Given the description of an element on the screen output the (x, y) to click on. 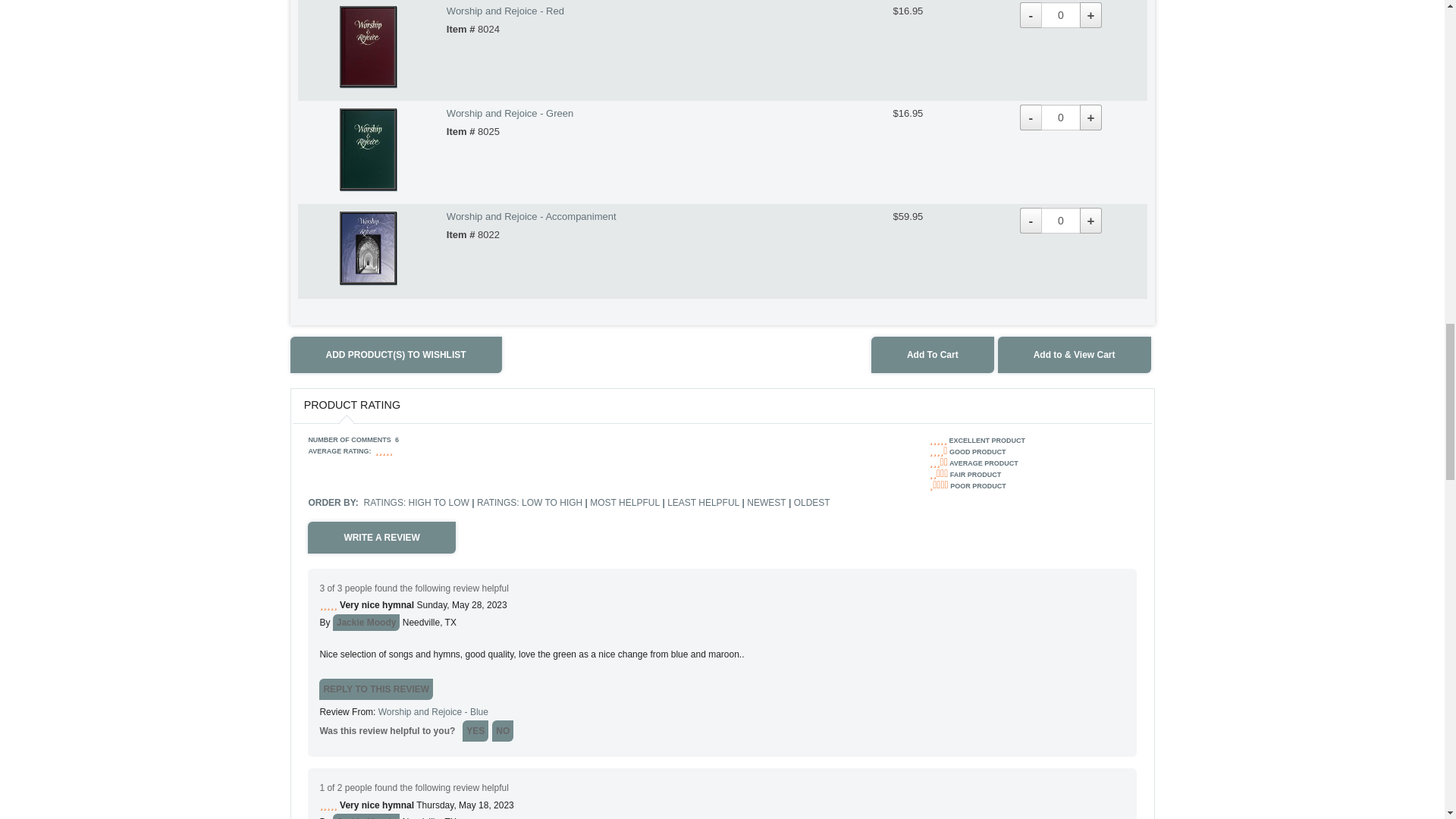
Jackie Moody (366, 816)
Write A Review (380, 537)
YES (475, 731)
0 (1060, 220)
Reply to this review (375, 689)
NO (502, 731)
Add To Cart (932, 354)
0 (1060, 117)
Jackie Moody (366, 622)
0 (1060, 14)
